Given the description of an element on the screen output the (x, y) to click on. 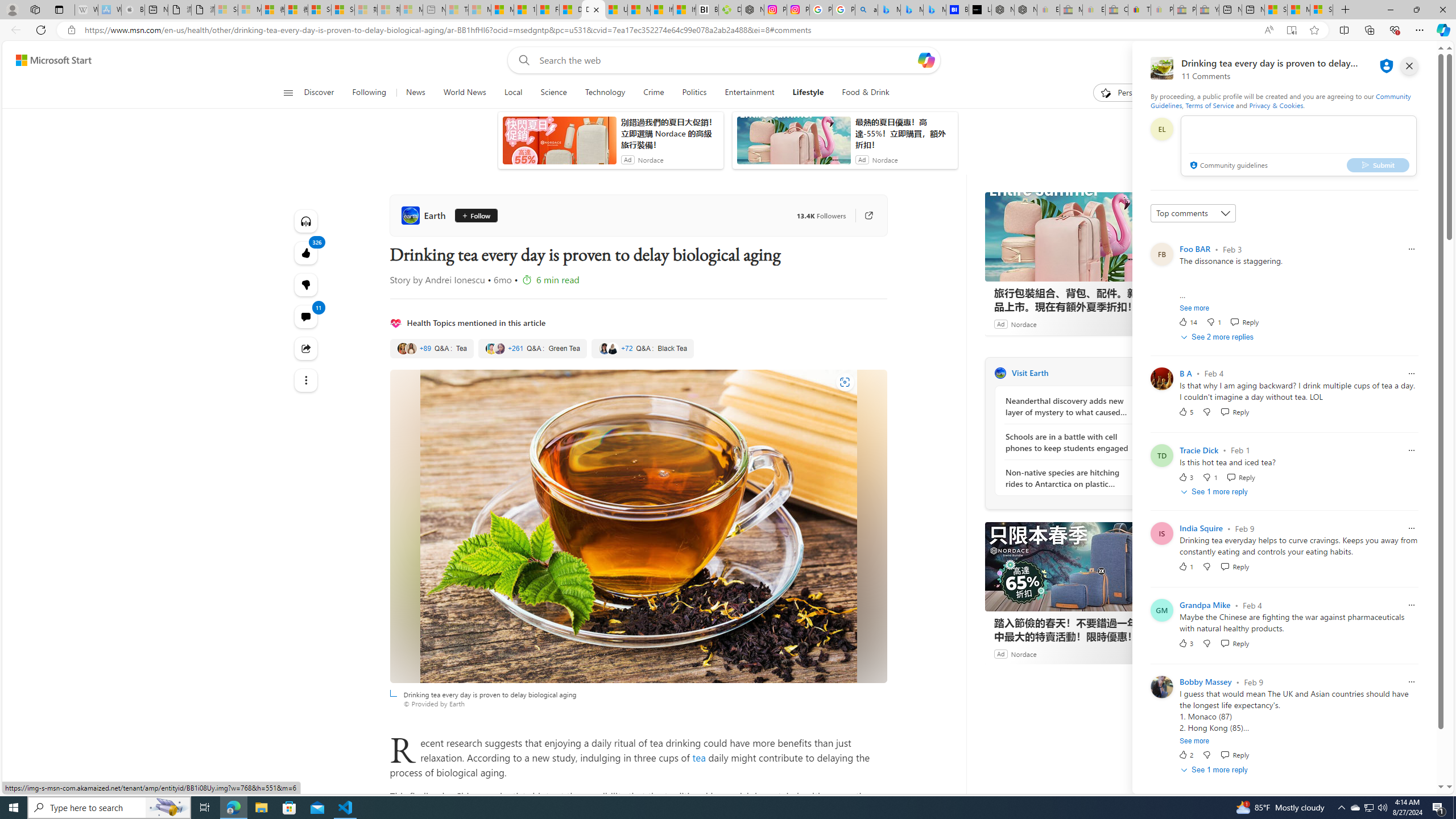
Tab actions menu (58, 9)
Sign in to your Microsoft account - Sleeping (226, 9)
5 Like (1185, 411)
World News (464, 92)
See 1 more reply (1215, 770)
Yard, Garden & Outdoor Living - Sleeping (1207, 9)
Politics (694, 92)
To get missing image descriptions, open the context menu. (1105, 92)
Wikipedia - Sleeping (86, 9)
Science (553, 92)
Class: quote-thumbnail (611, 348)
Drinking tea every day is proven to delay biological aging (638, 526)
